Given the description of an element on the screen output the (x, y) to click on. 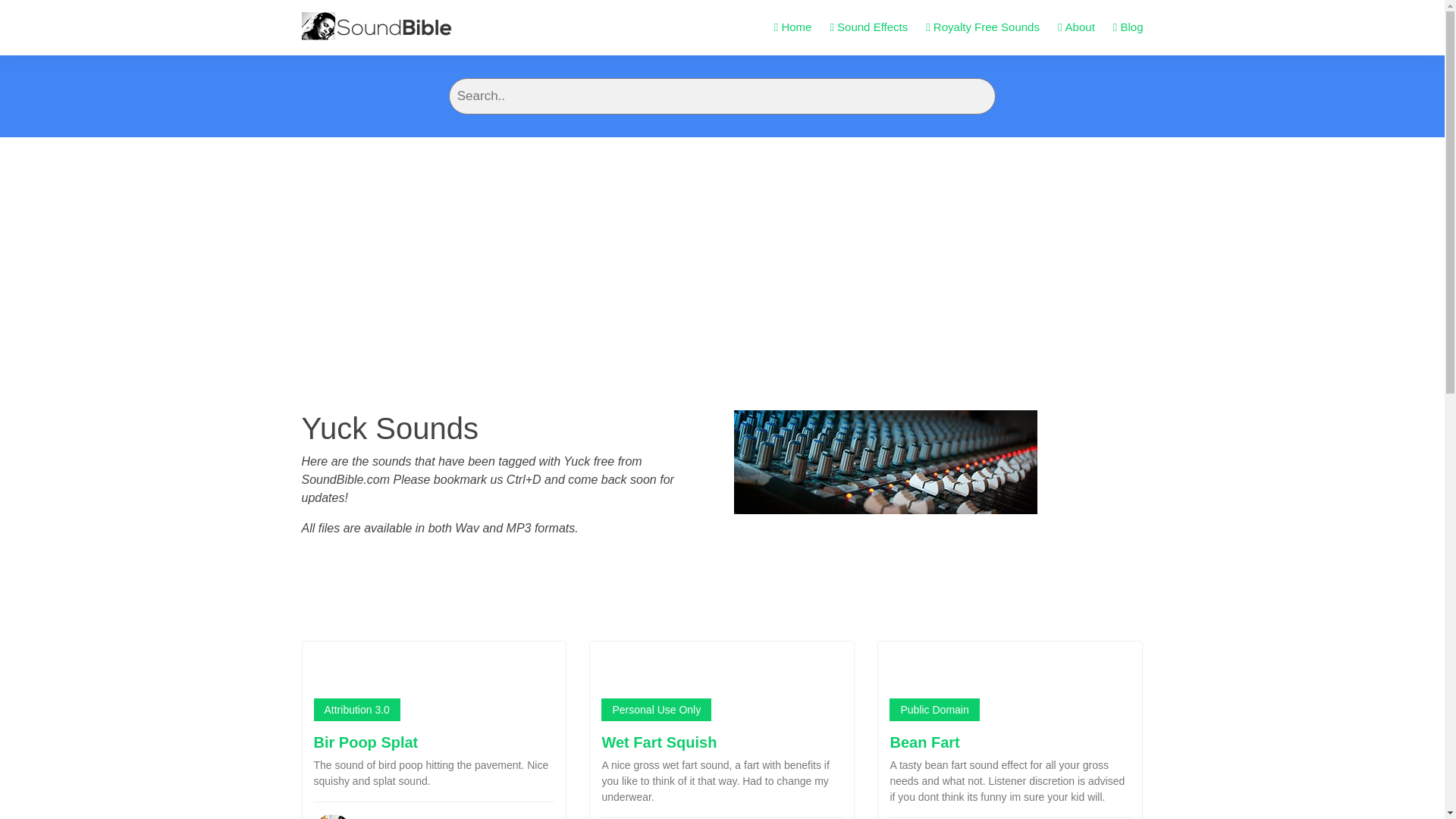
Blog (1127, 27)
About (1076, 27)
Home (793, 27)
Bir Poop Splat (366, 742)
Sound Effects (868, 27)
Wet Fart Squish (658, 742)
Royalty Free Sounds (982, 27)
Bean Fart (924, 742)
